Given the description of an element on the screen output the (x, y) to click on. 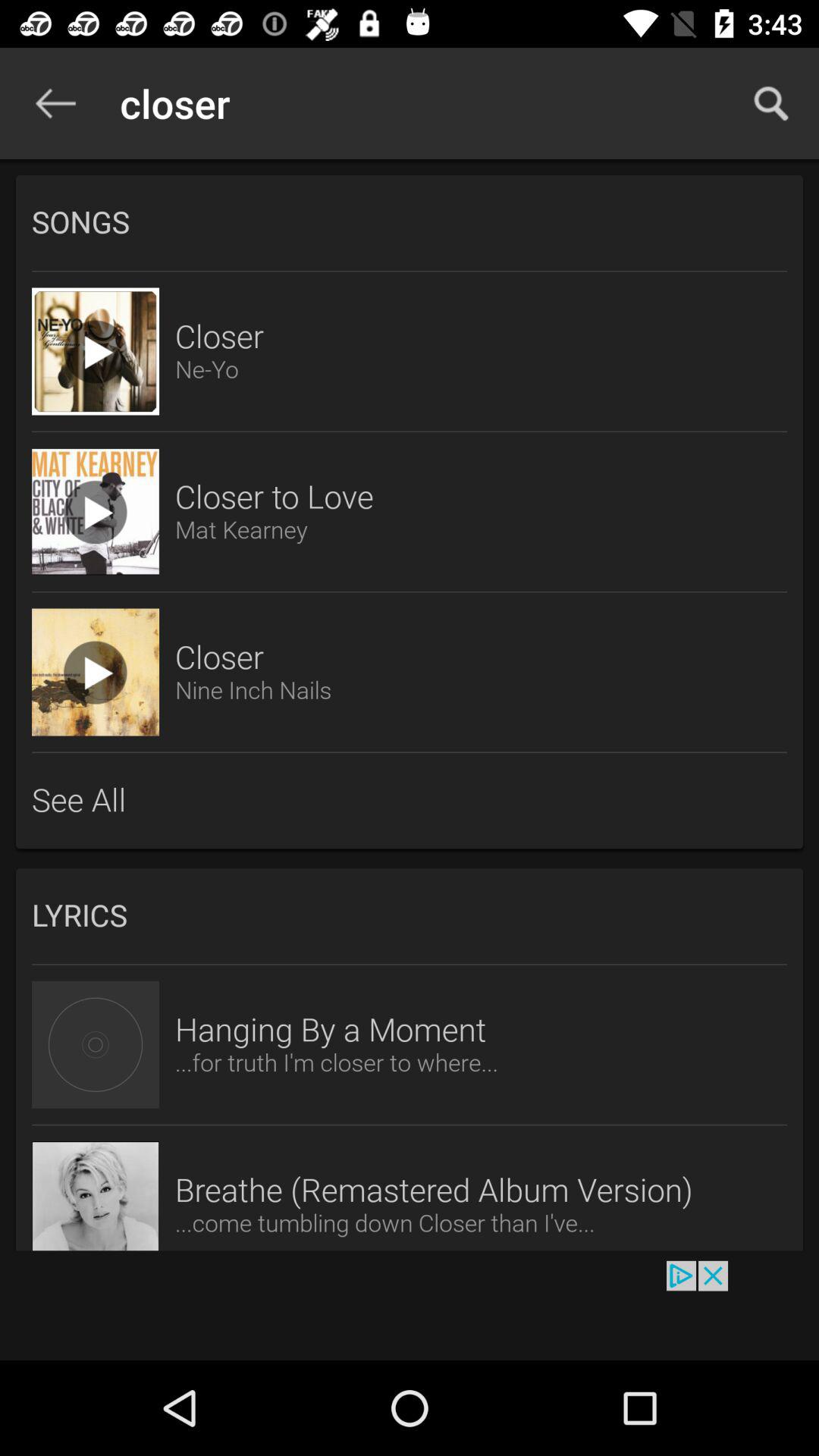
click the item above the songs icon (771, 103)
